Given the description of an element on the screen output the (x, y) to click on. 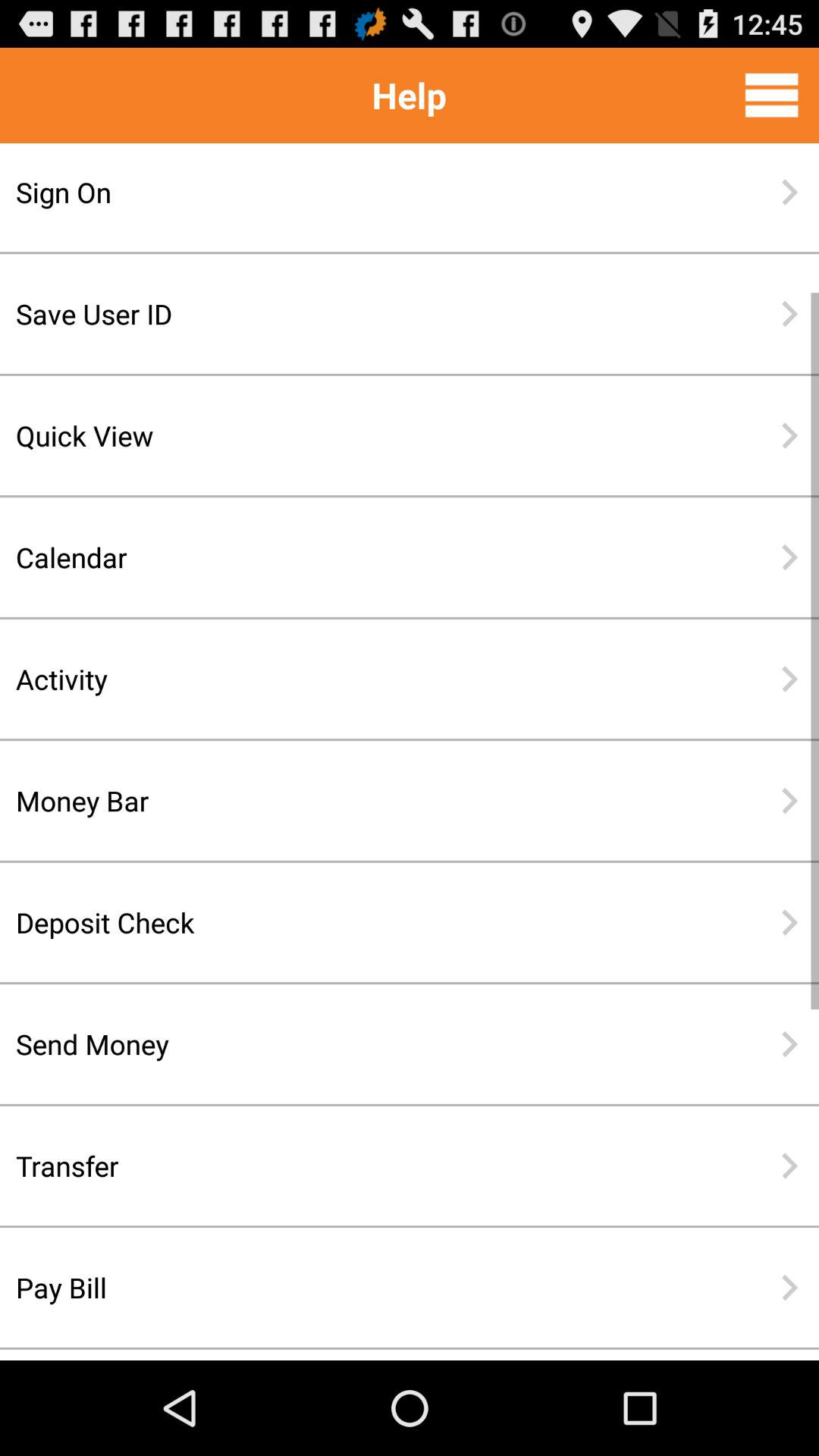
open menu (771, 95)
